Given the description of an element on the screen output the (x, y) to click on. 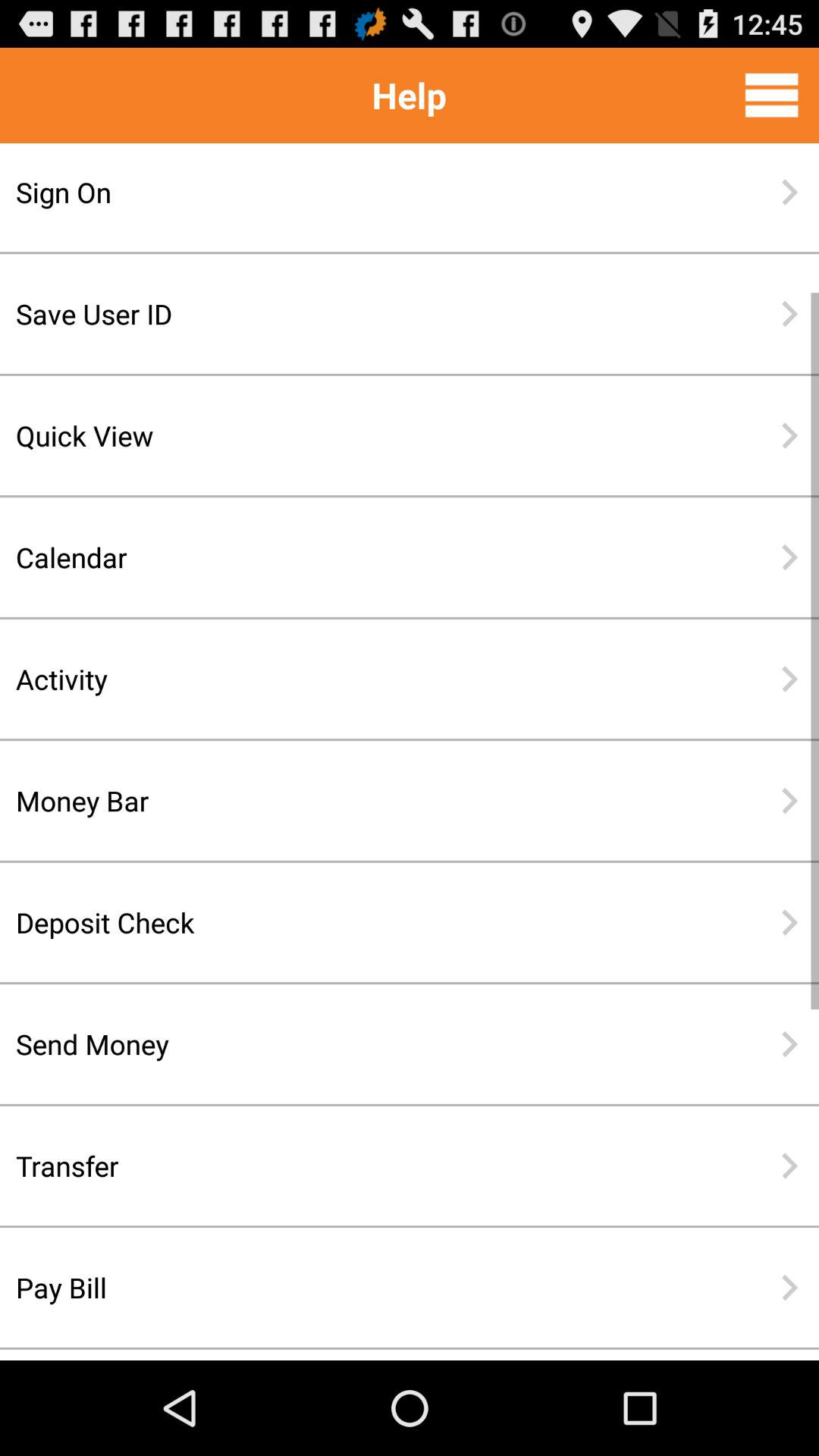
open menu (771, 95)
